Given the description of an element on the screen output the (x, y) to click on. 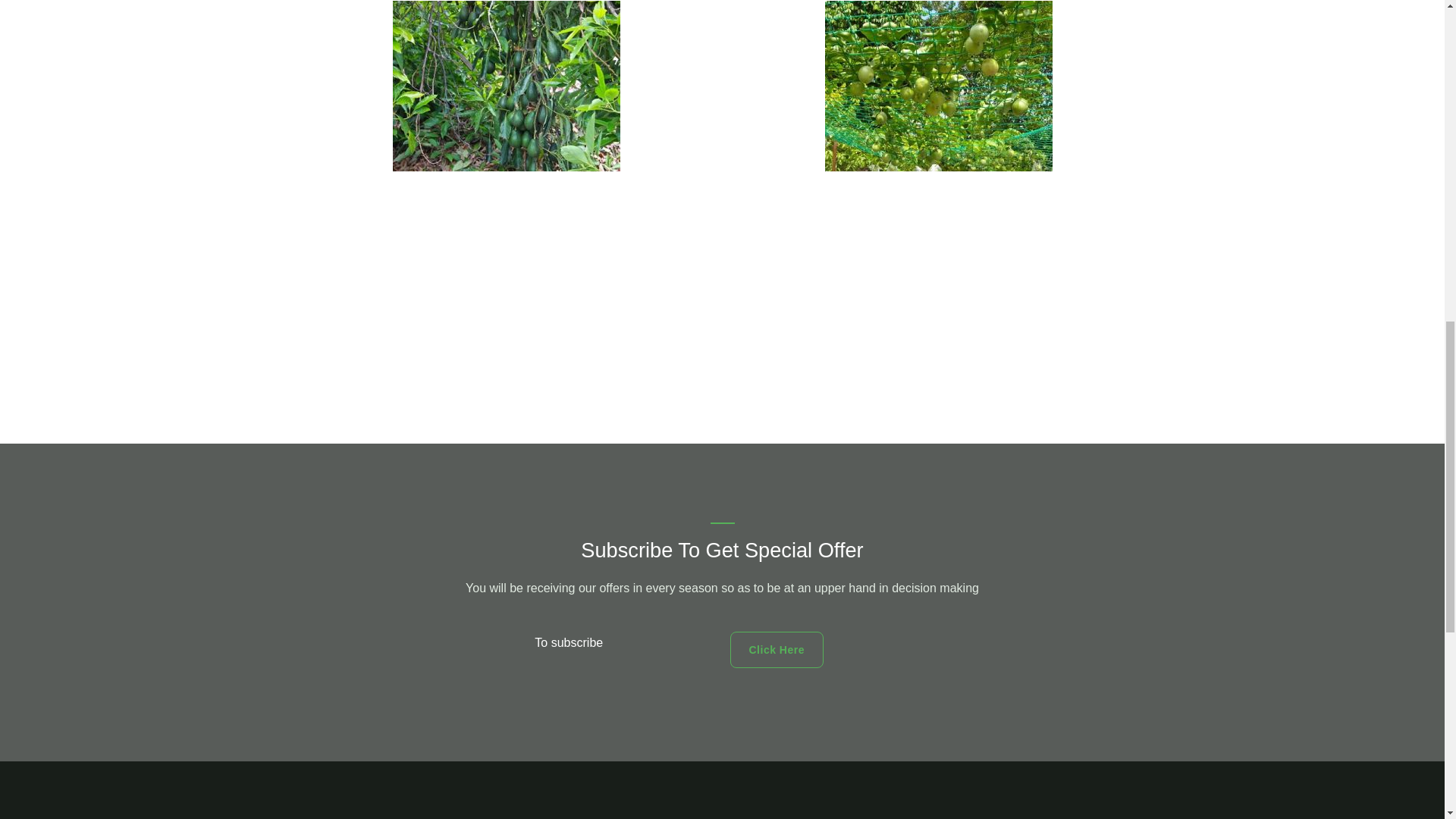
Click Here (775, 649)
